Given the description of an element on the screen output the (x, y) to click on. 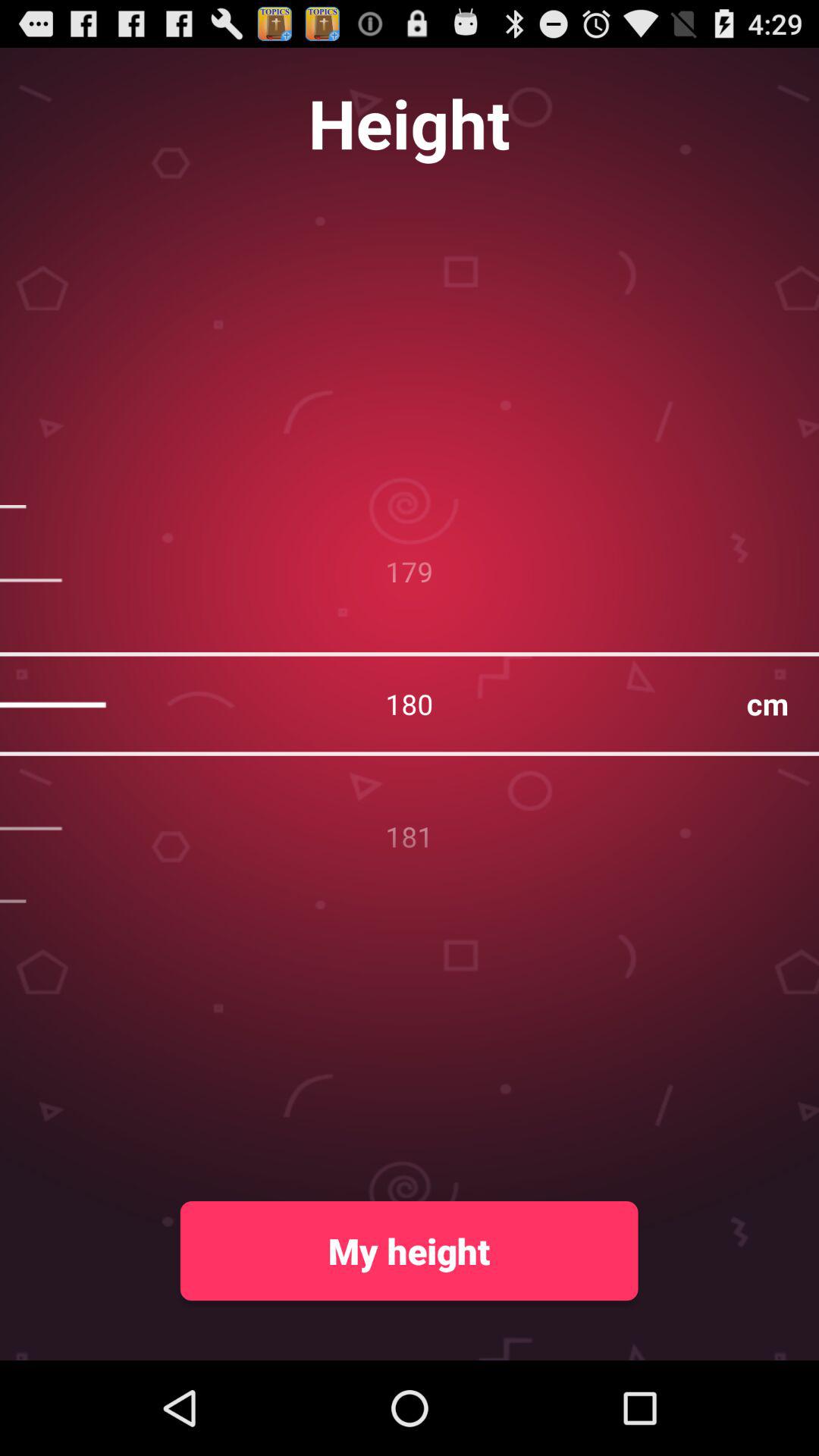
choose the button above the my height (409, 703)
